Given the description of an element on the screen output the (x, y) to click on. 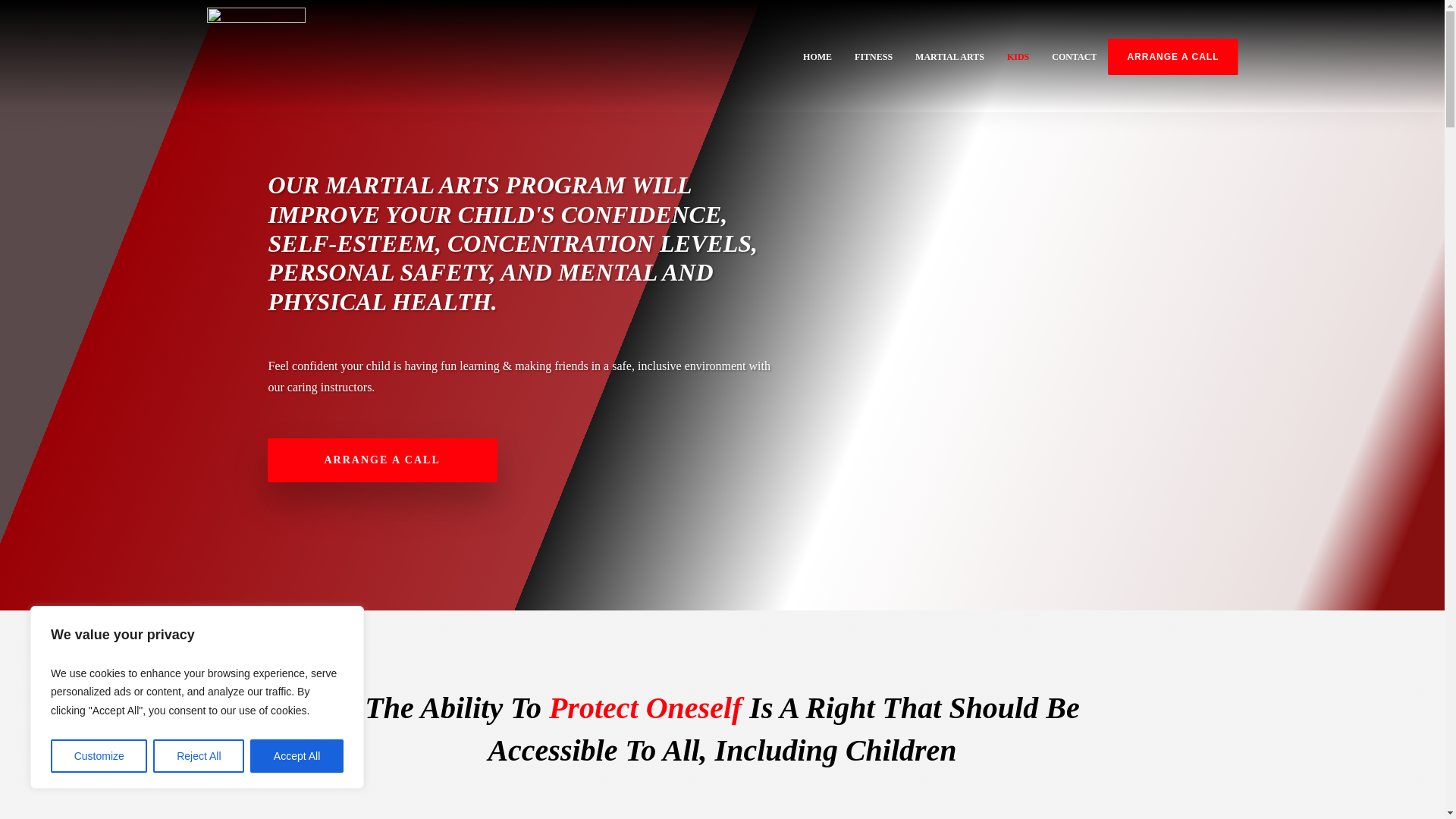
KIDS (1018, 56)
Customize (98, 756)
MARTIAL ARTS (949, 56)
HOME (817, 56)
Accept All (296, 756)
ARRANGE A CALL (1172, 56)
FITNESS (873, 56)
ARRANGE A CALL (381, 460)
CONTACT (1073, 56)
Reject All (198, 756)
